Given the description of an element on the screen output the (x, y) to click on. 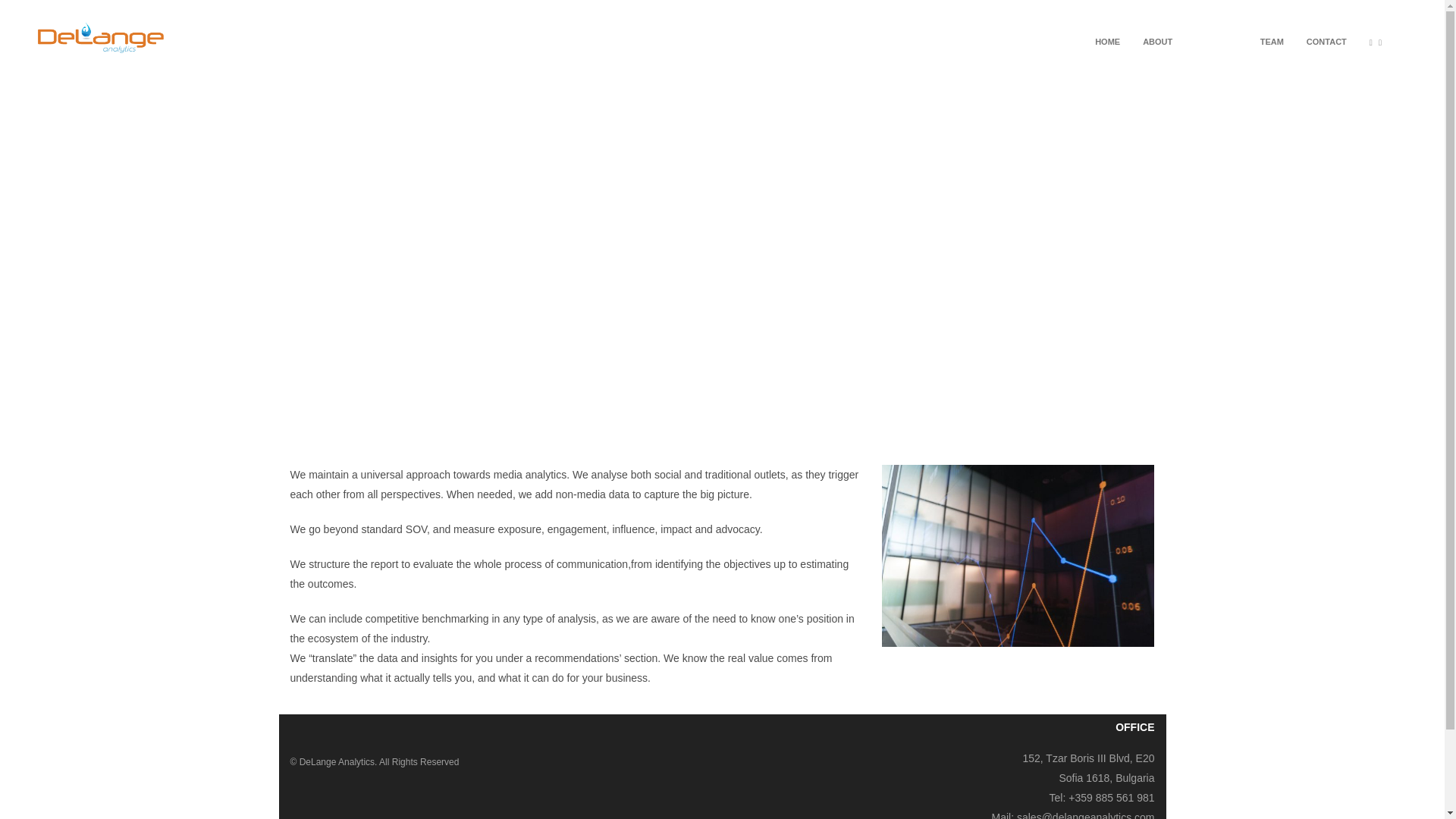
ABOUT (1157, 44)
SERVICES (1215, 44)
CONTACT (1326, 44)
TEAM (1272, 44)
media intelligence2 1440x900-7 (1017, 556)
